Given the description of an element on the screen output the (x, y) to click on. 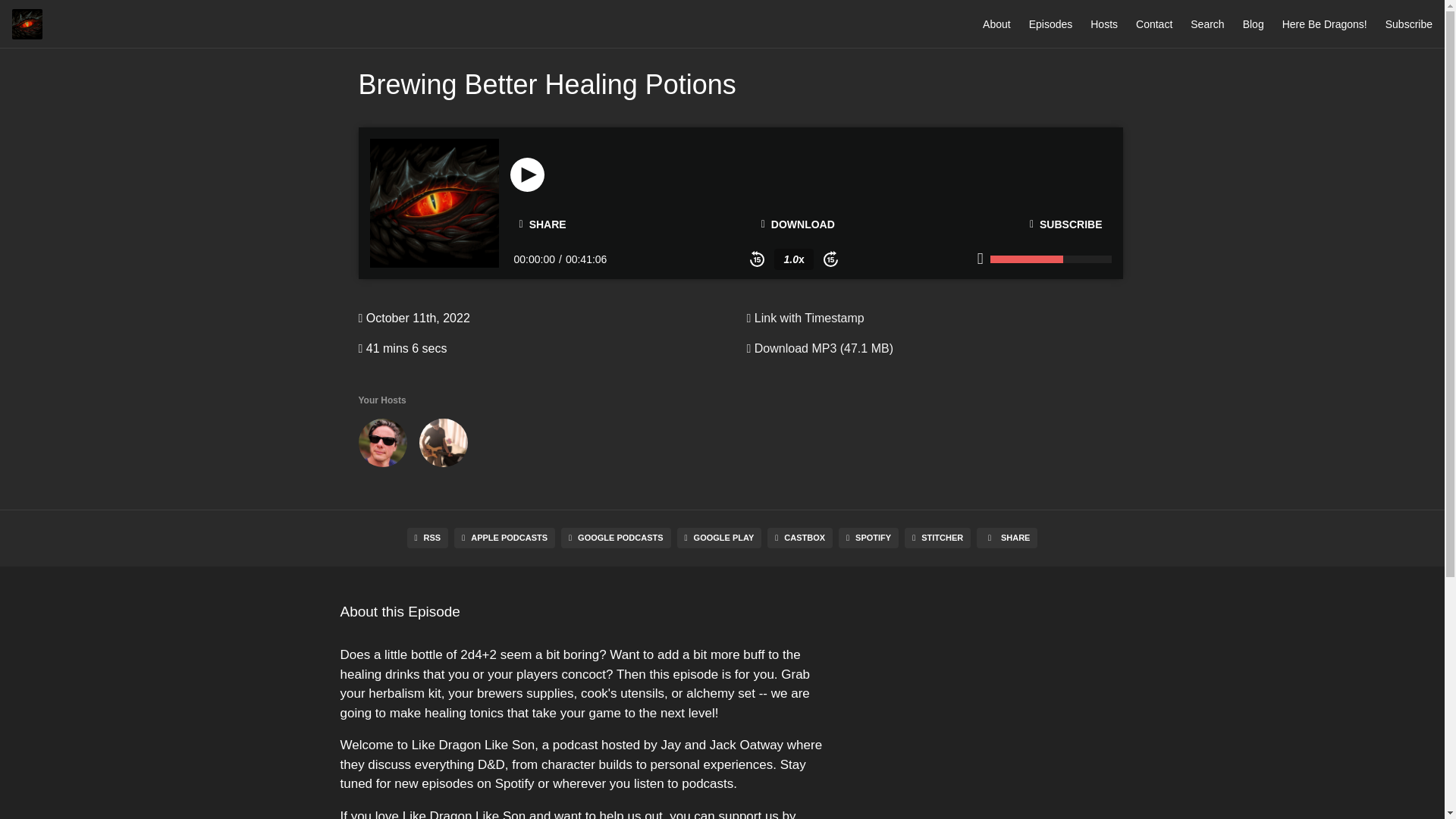
SHARE (1006, 537)
Contact (1153, 24)
DOWNLOAD (798, 224)
Episodes (1051, 24)
Blog (1253, 24)
APPLE PODCASTS (504, 537)
SHARE (542, 224)
1.0x (793, 259)
SPOTIFY (868, 537)
Hosts (1104, 24)
